Given the description of an element on the screen output the (x, y) to click on. 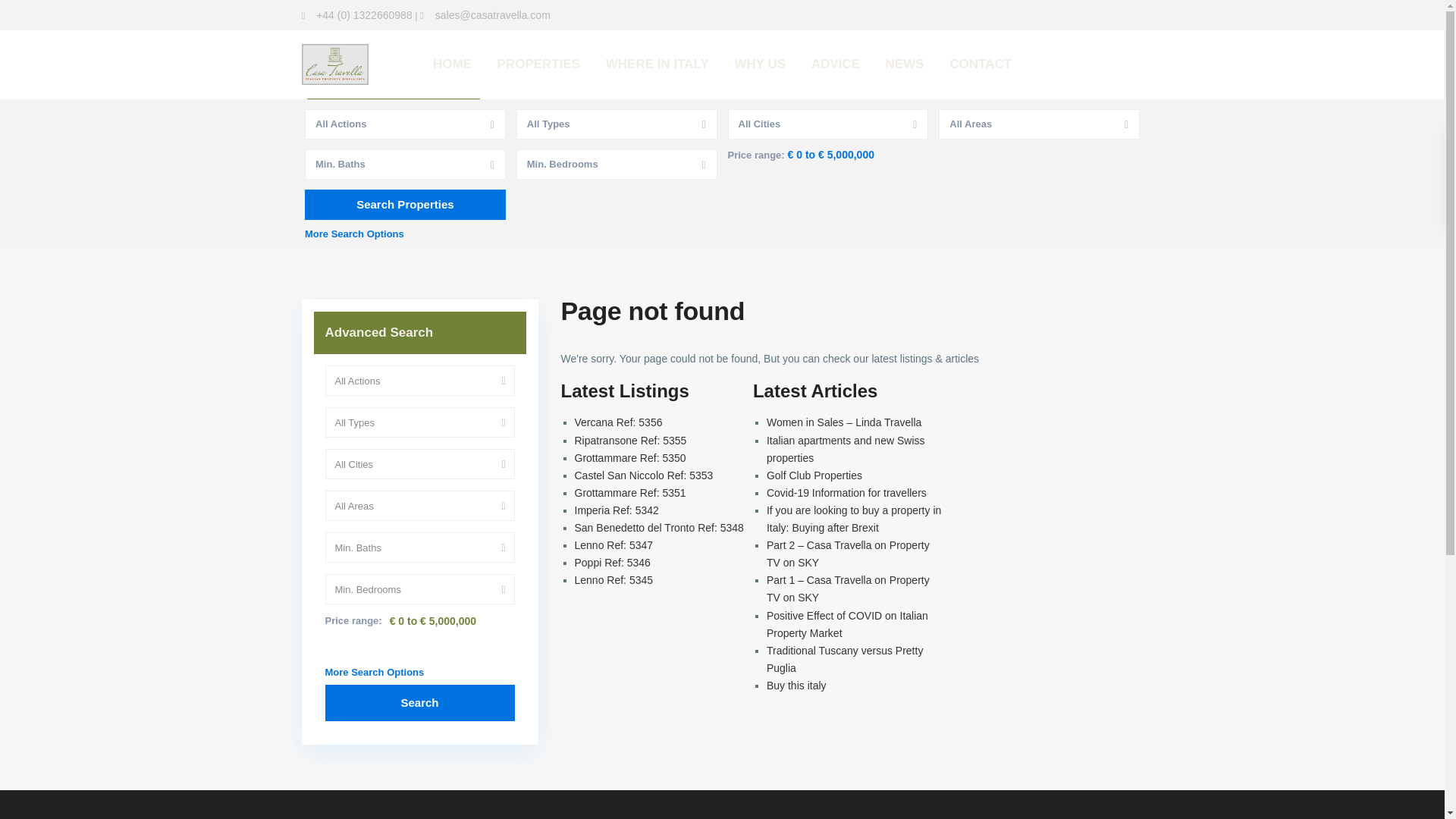
Ripatransone Ref: 5355 (631, 440)
HOME (452, 64)
CONTACT (980, 64)
PROPERTIES (539, 64)
Search Properties (404, 204)
Grottammare Ref: 5350 (630, 458)
NEWS (905, 64)
WHERE IN ITALY (657, 64)
Search Properties (404, 204)
Vercana Ref: 5356 (618, 422)
